Given the description of an element on the screen output the (x, y) to click on. 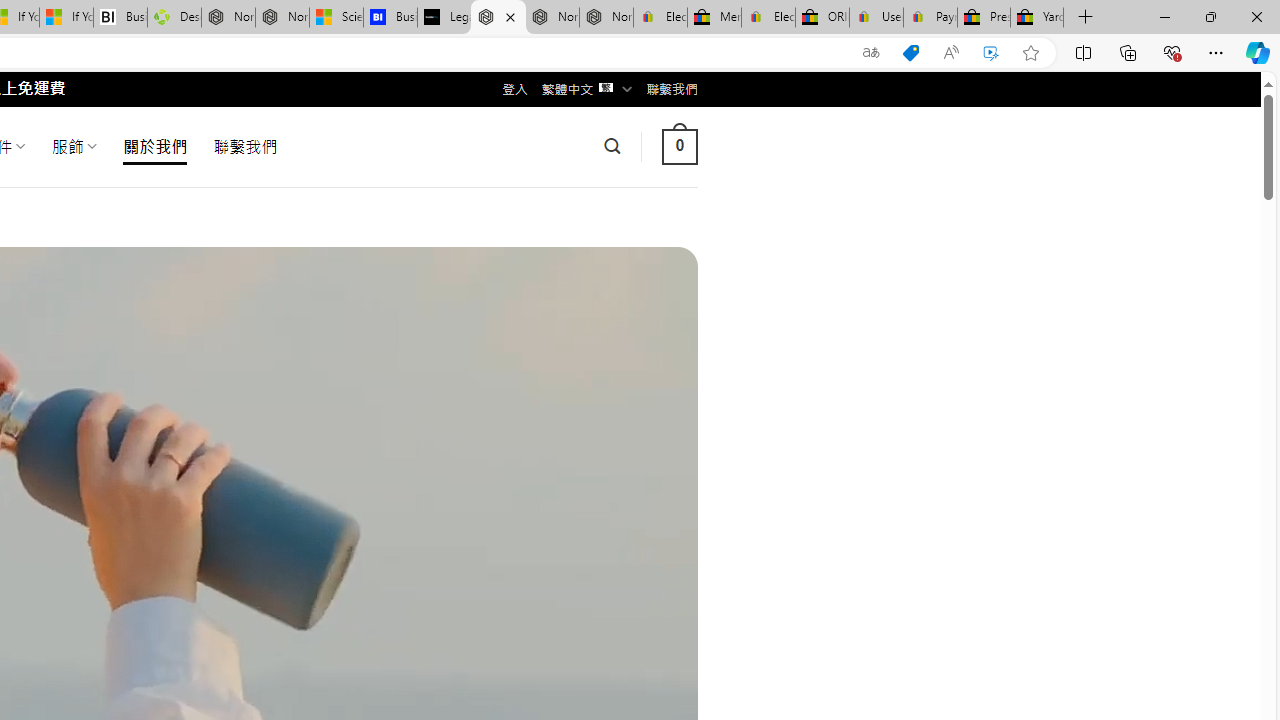
Enhance video (991, 53)
Payments Terms of Use | eBay.com (930, 17)
User Privacy Notice | eBay (875, 17)
